Given the description of an element on the screen output the (x, y) to click on. 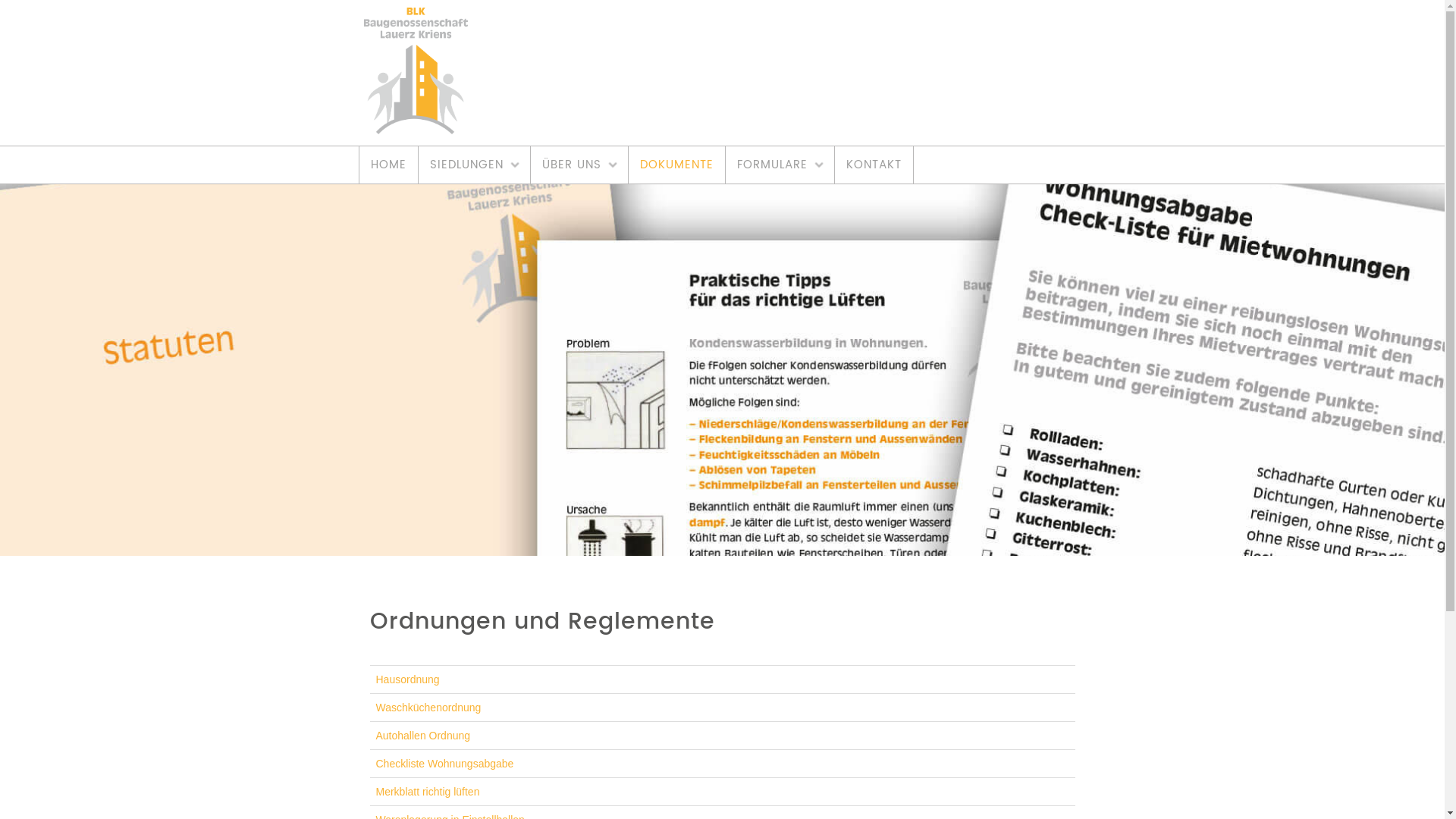
FORMULARE Element type: text (778, 164)
Autohallen Ordnung Element type: text (423, 735)
Checkliste Wohnungsabgabe Element type: text (445, 763)
KONTAKT Element type: text (873, 164)
Hausordnung Element type: text (407, 679)
SIEDLUNGEN Element type: text (474, 164)
DOKUMENTE Element type: text (675, 164)
HOME Element type: text (388, 164)
